Given the description of an element on the screen output the (x, y) to click on. 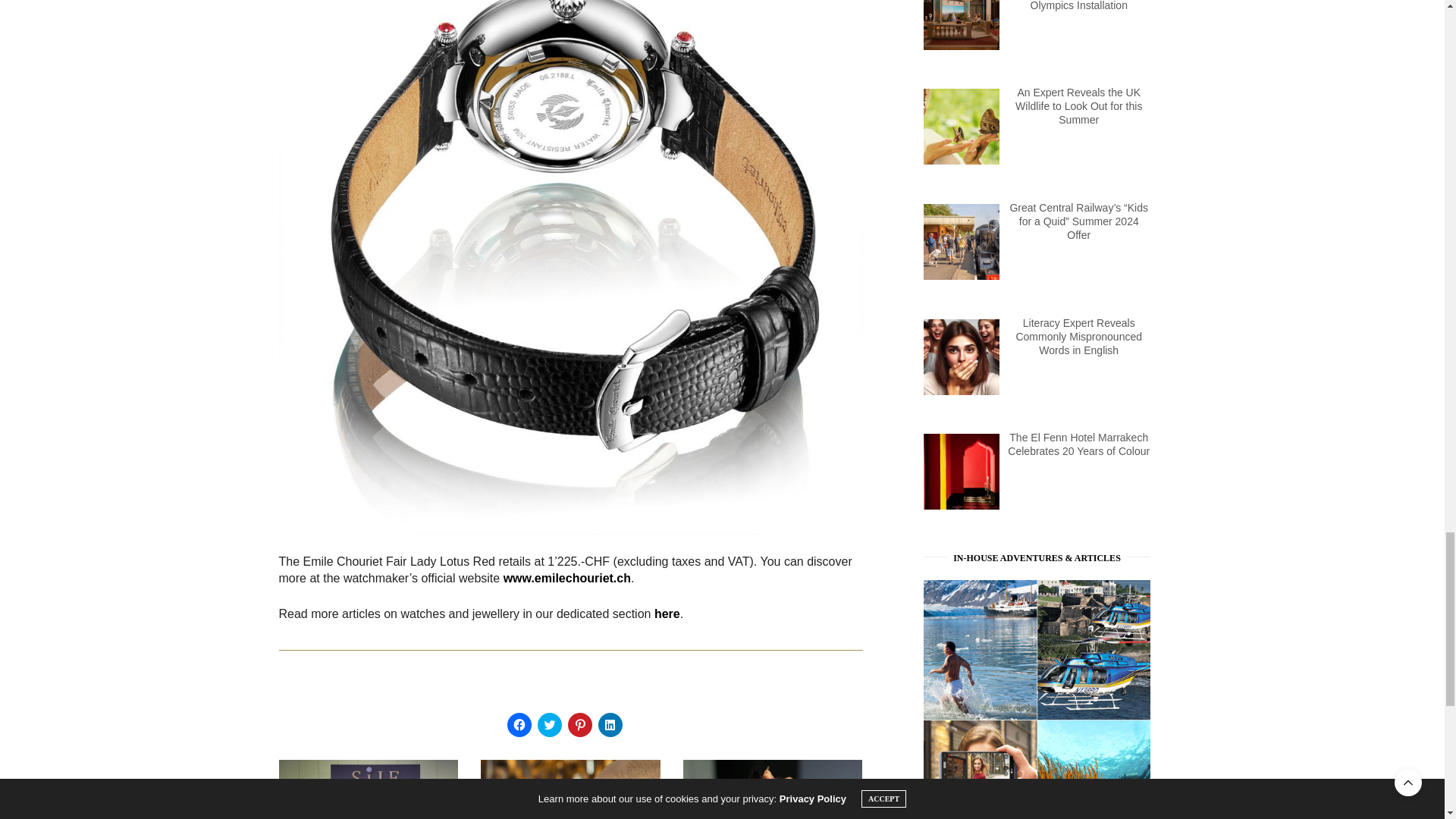
Click to share on LinkedIn (608, 724)
Click to share on Twitter (548, 724)
Click to share on Pinterest (579, 724)
Click to share on Facebook (518, 724)
